Given the description of an element on the screen output the (x, y) to click on. 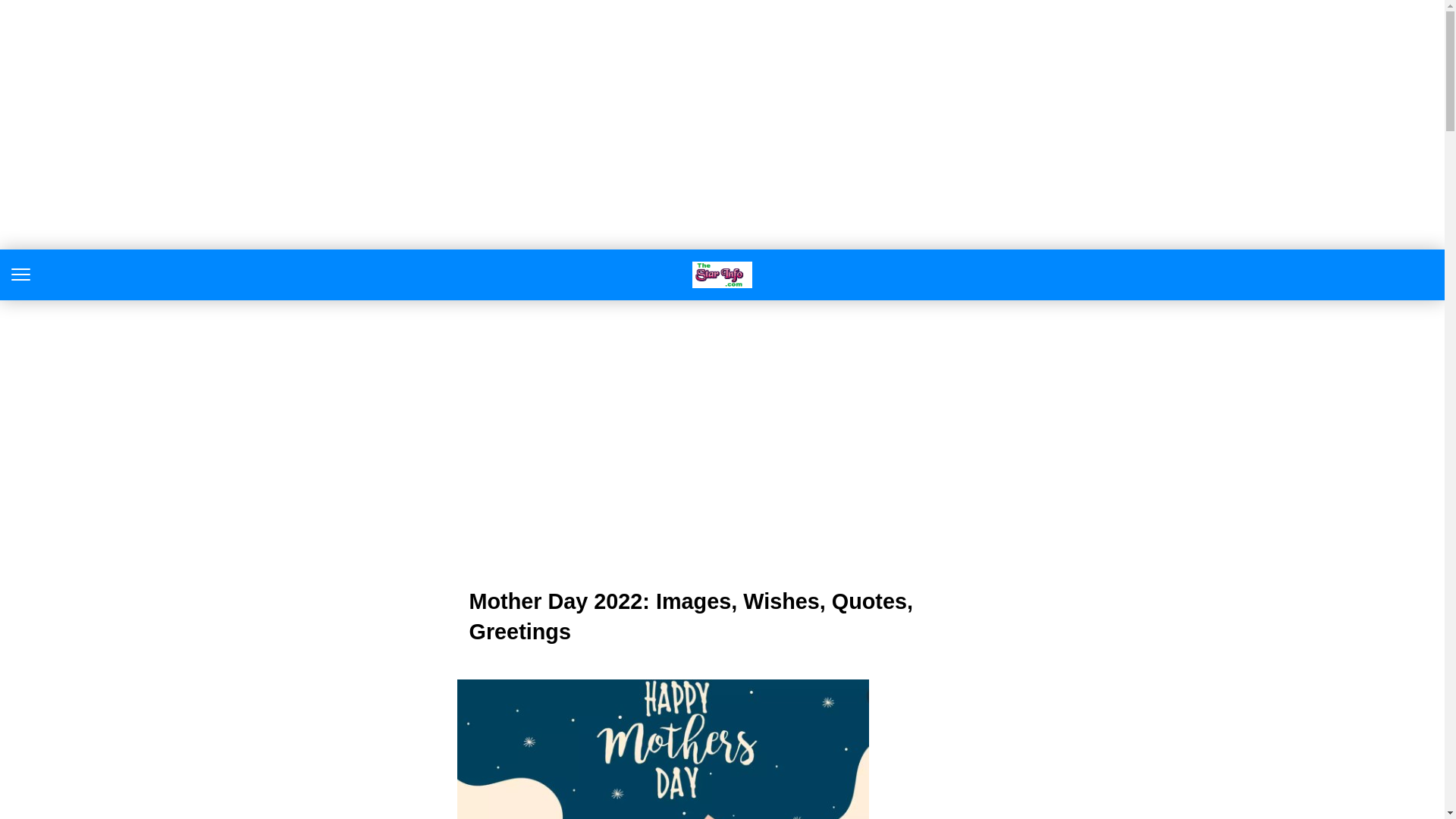
3rd party ad content (721, 439)
The Star Info (721, 274)
